Given the description of an element on the screen output the (x, y) to click on. 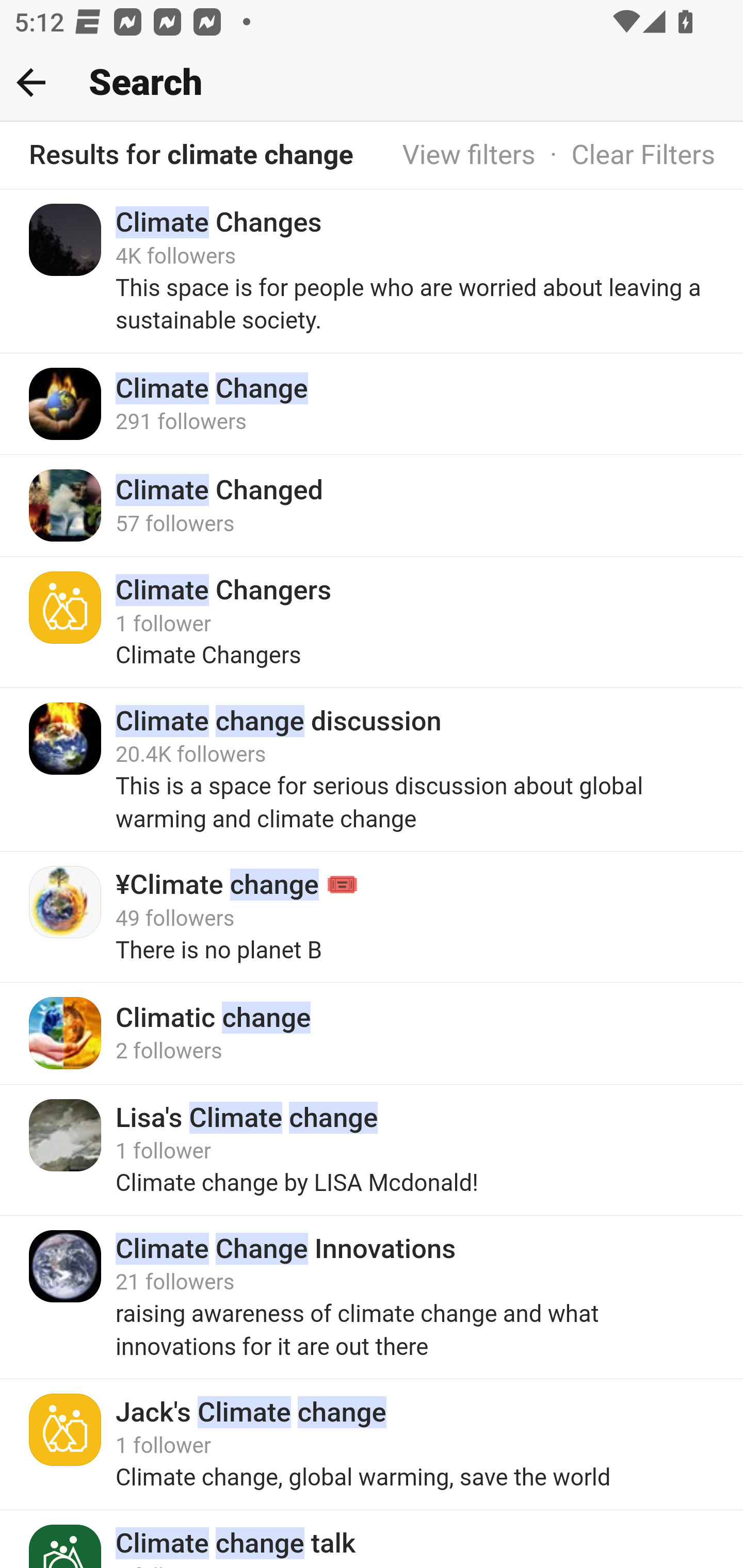
Back Search (371, 82)
Back (30, 82)
View filters (468, 155)
· Clear Filters · Clear Filters (625, 155)
